Given the description of an element on the screen output the (x, y) to click on. 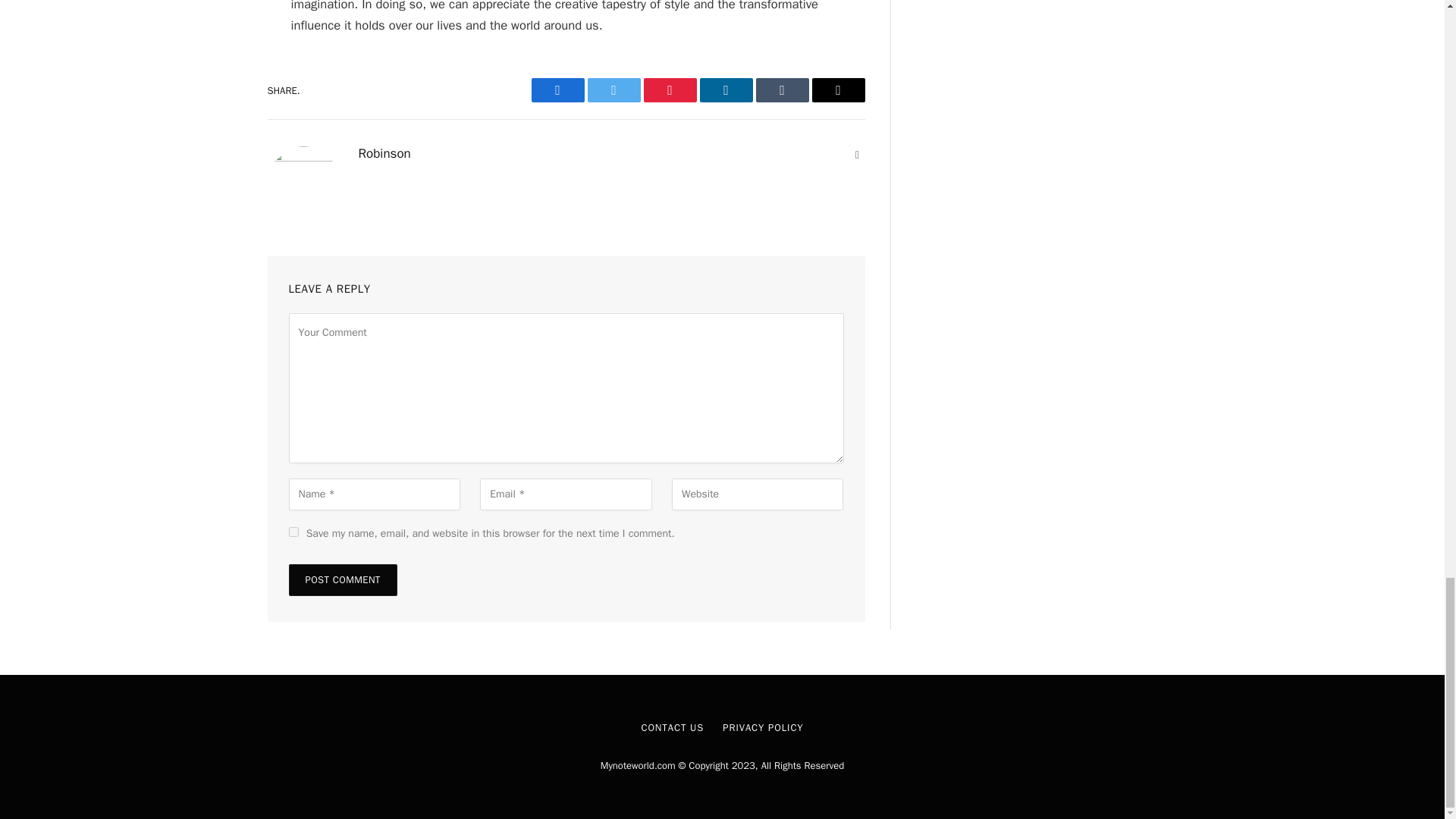
Website (856, 155)
Twitter (613, 89)
yes (293, 532)
Email (837, 89)
Post Comment (342, 580)
Pinterest (669, 89)
Robinson (384, 153)
Facebook (557, 89)
Tumblr (781, 89)
LinkedIn (725, 89)
